Given the description of an element on the screen output the (x, y) to click on. 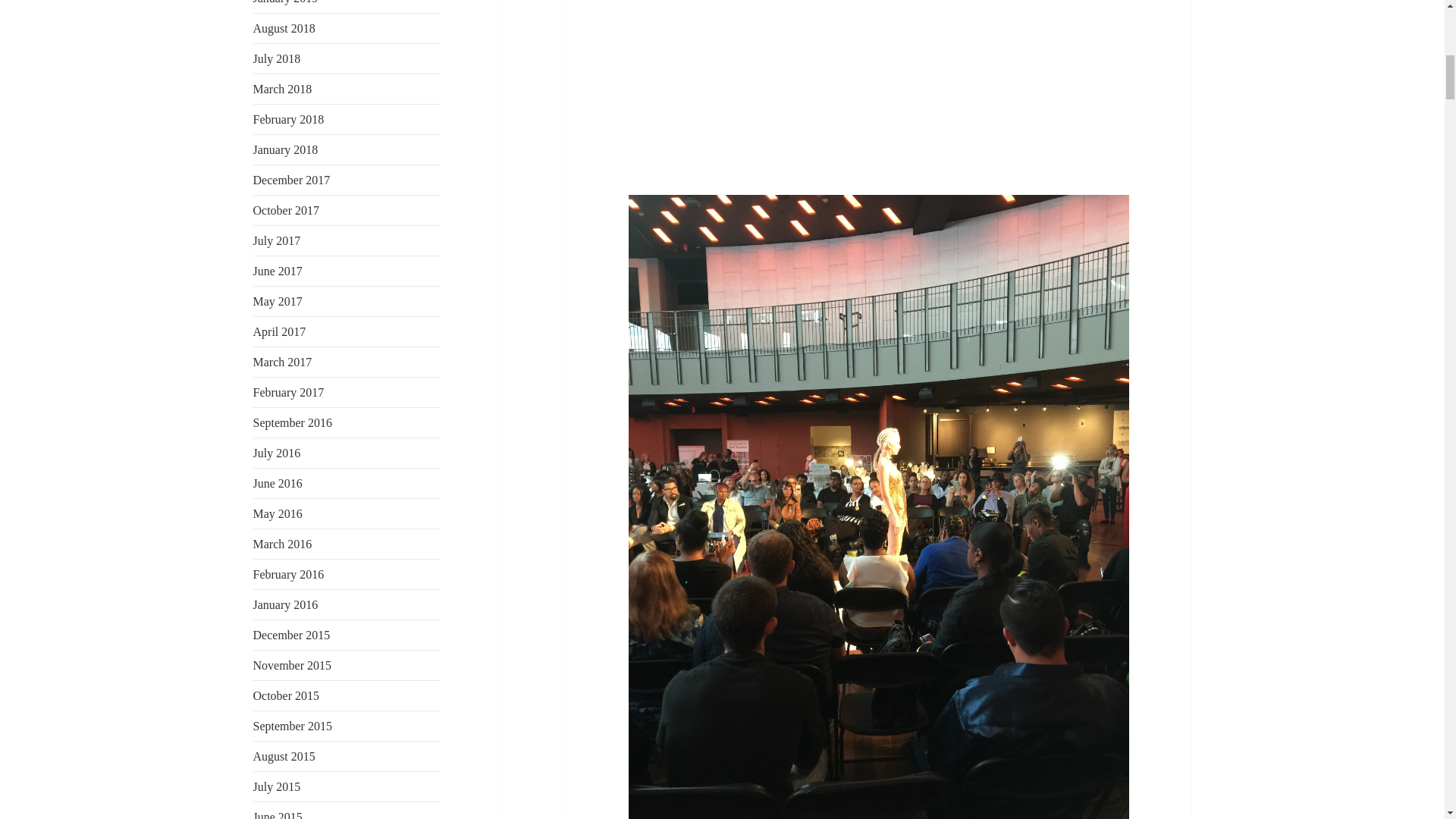
May 2017 (277, 300)
October 2015 (286, 695)
July 2017 (277, 240)
January 2019 (285, 2)
January 2016 (285, 604)
February 2018 (288, 119)
March 2016 (283, 543)
February 2016 (288, 574)
August 2018 (284, 28)
February 2017 (288, 391)
December 2017 (291, 179)
April 2017 (279, 331)
September 2016 (292, 422)
August 2015 (284, 756)
January 2018 (285, 149)
